Given the description of an element on the screen output the (x, y) to click on. 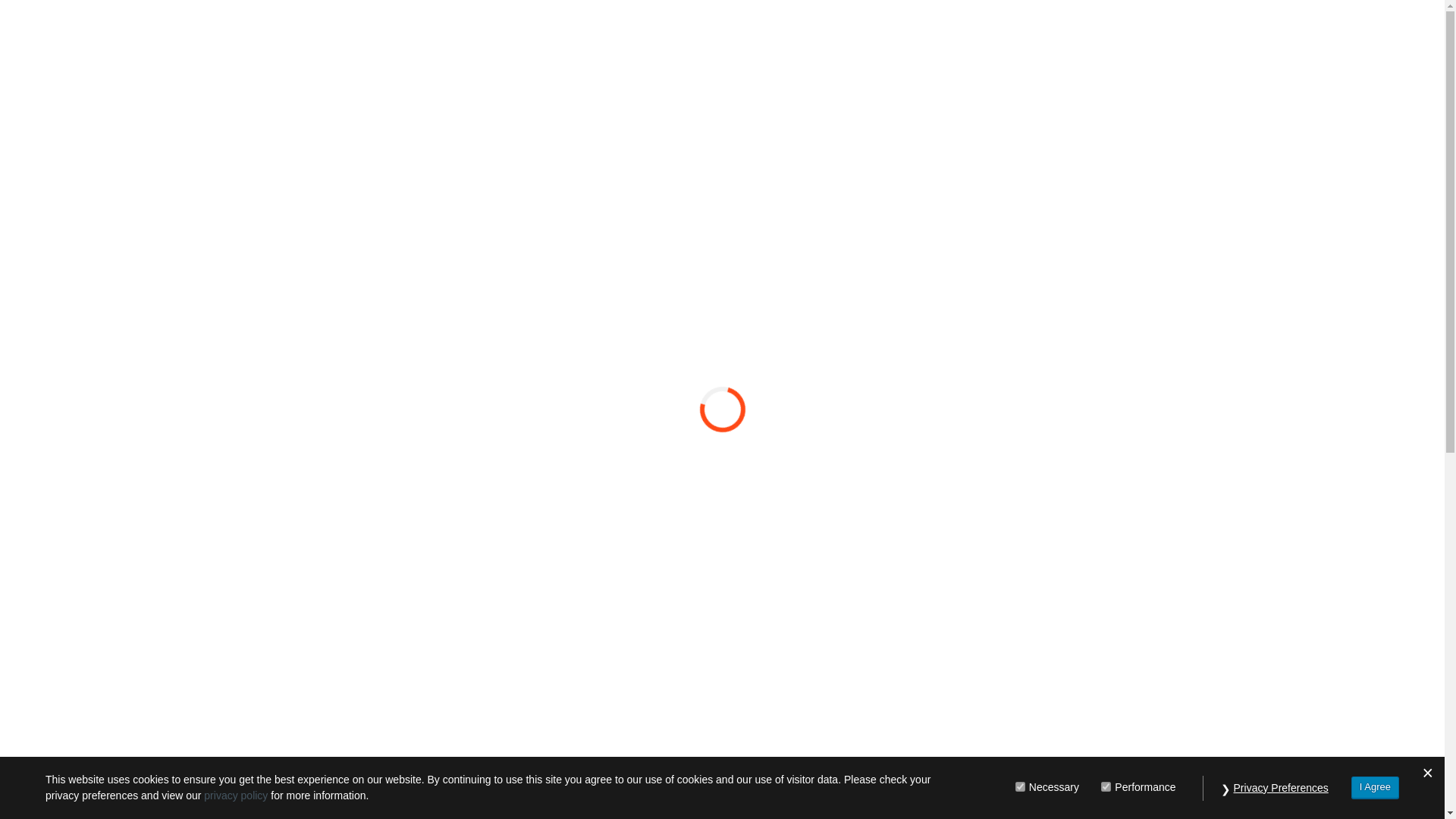
Contact (1200, 80)
Interoperability (934, 80)
Necessary (1019, 786)
xadmin (333, 444)
Events (1040, 80)
March 6, 2006 (403, 444)
About ECIS (813, 80)
ECIS joins the Open Document Format Alliance (521, 415)
Performance (1105, 786)
Privacy Policy (1306, 80)
